Given the description of an element on the screen output the (x, y) to click on. 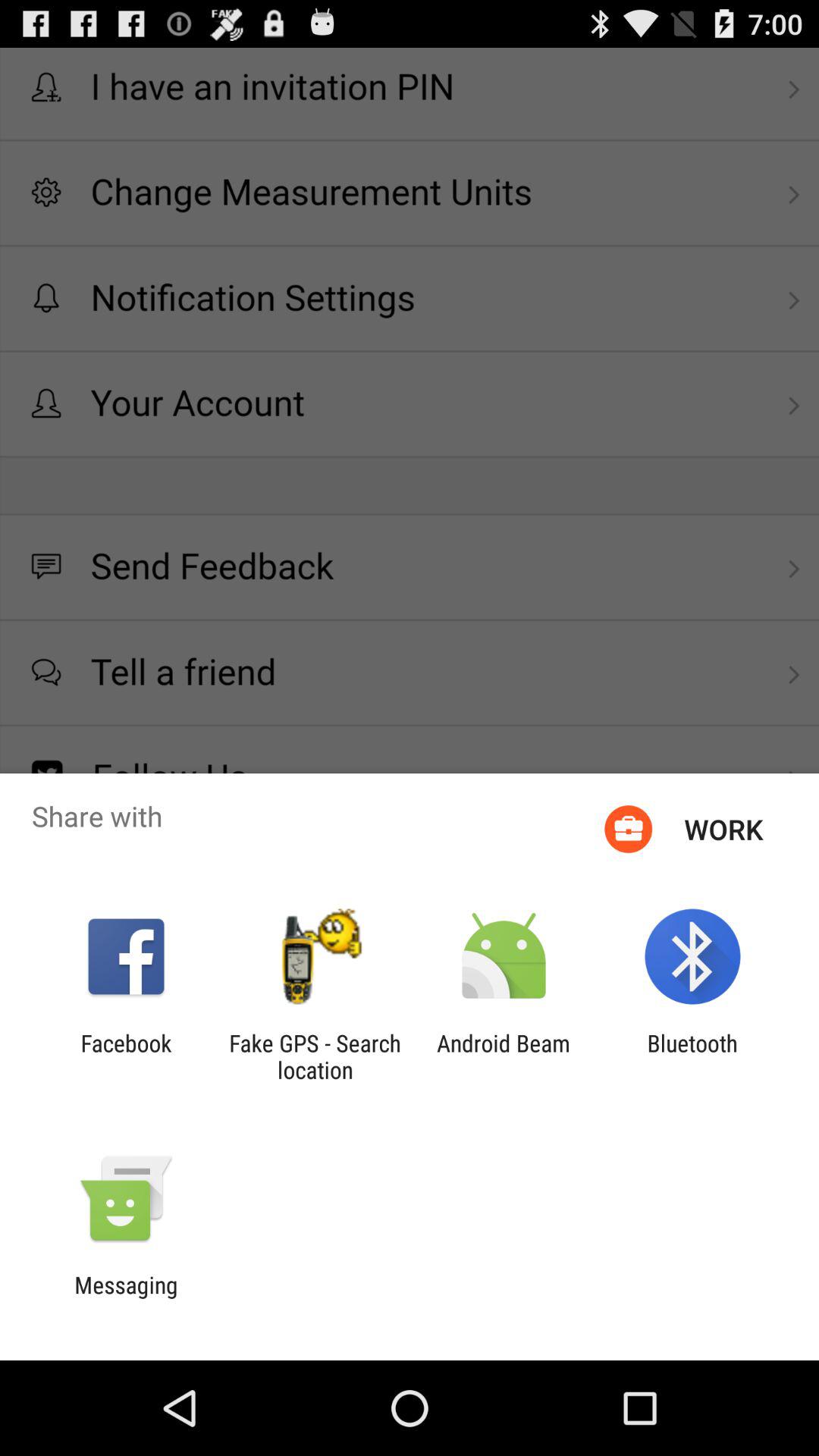
open app next to fake gps search (503, 1056)
